Given the description of an element on the screen output the (x, y) to click on. 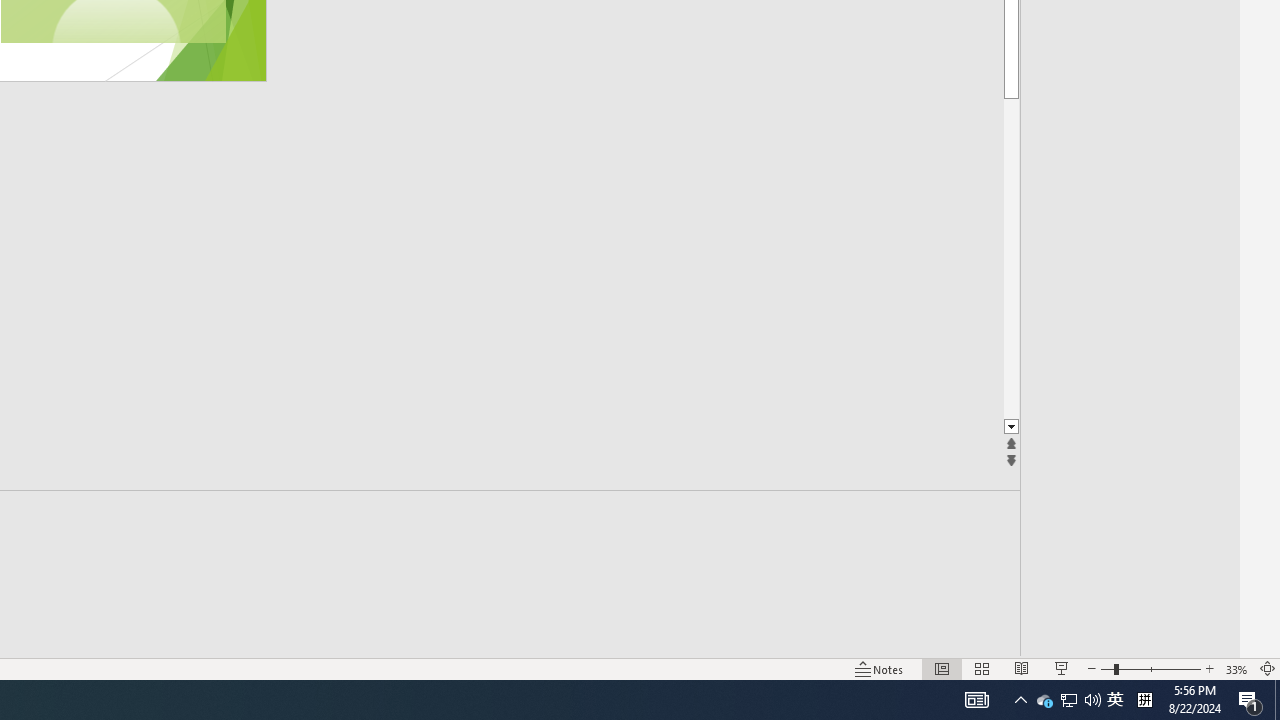
Zoom 33% (1236, 668)
